Given the description of an element on the screen output the (x, y) to click on. 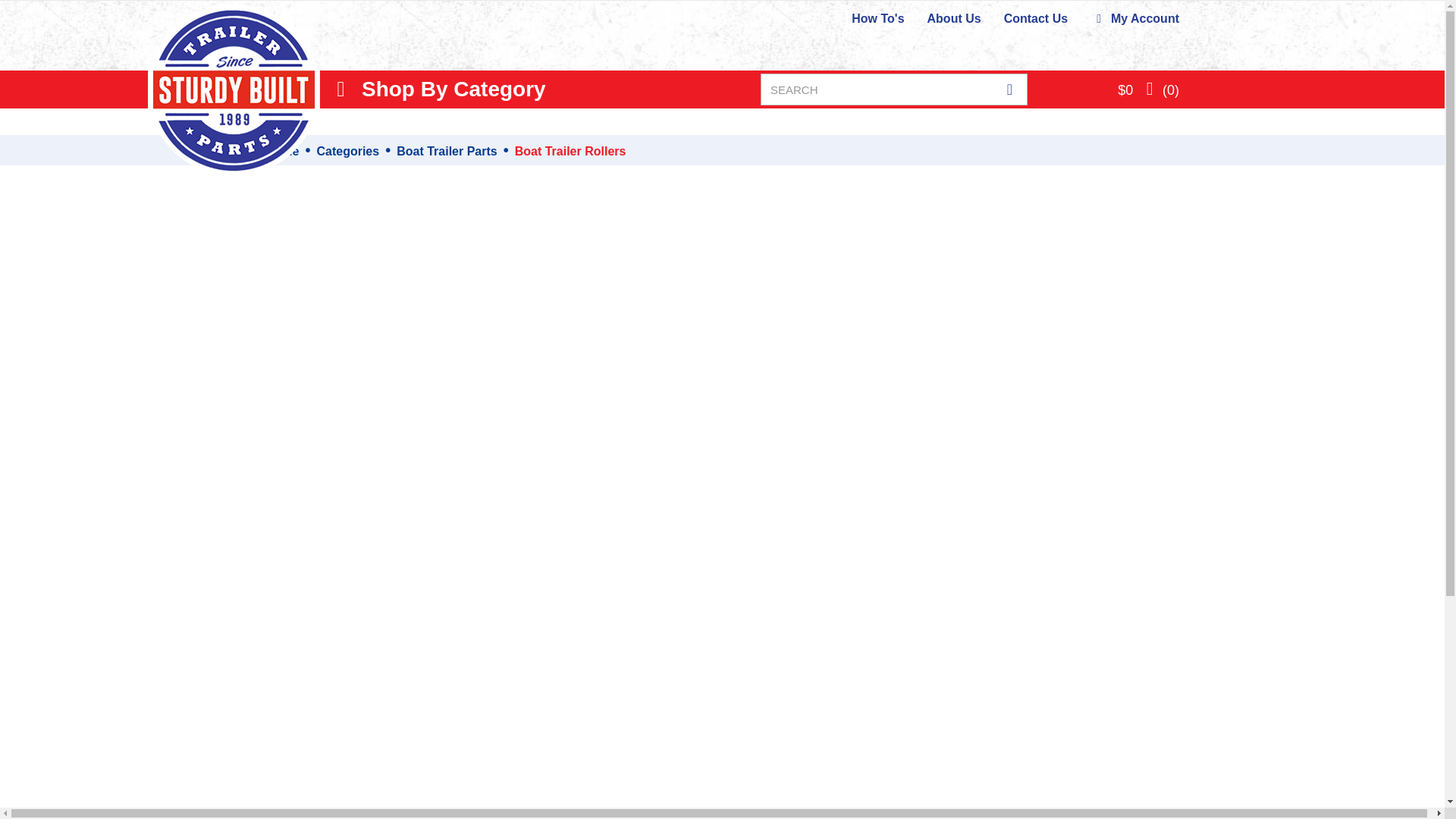
How To's (877, 18)
Home (281, 151)
About Us (954, 18)
Boat Trailer Rollers (570, 151)
My Account (1134, 18)
Contact Us (1035, 18)
Shop By Category (437, 89)
Boat Trailer Parts (446, 151)
Categories (346, 151)
